Given the description of an element on the screen output the (x, y) to click on. 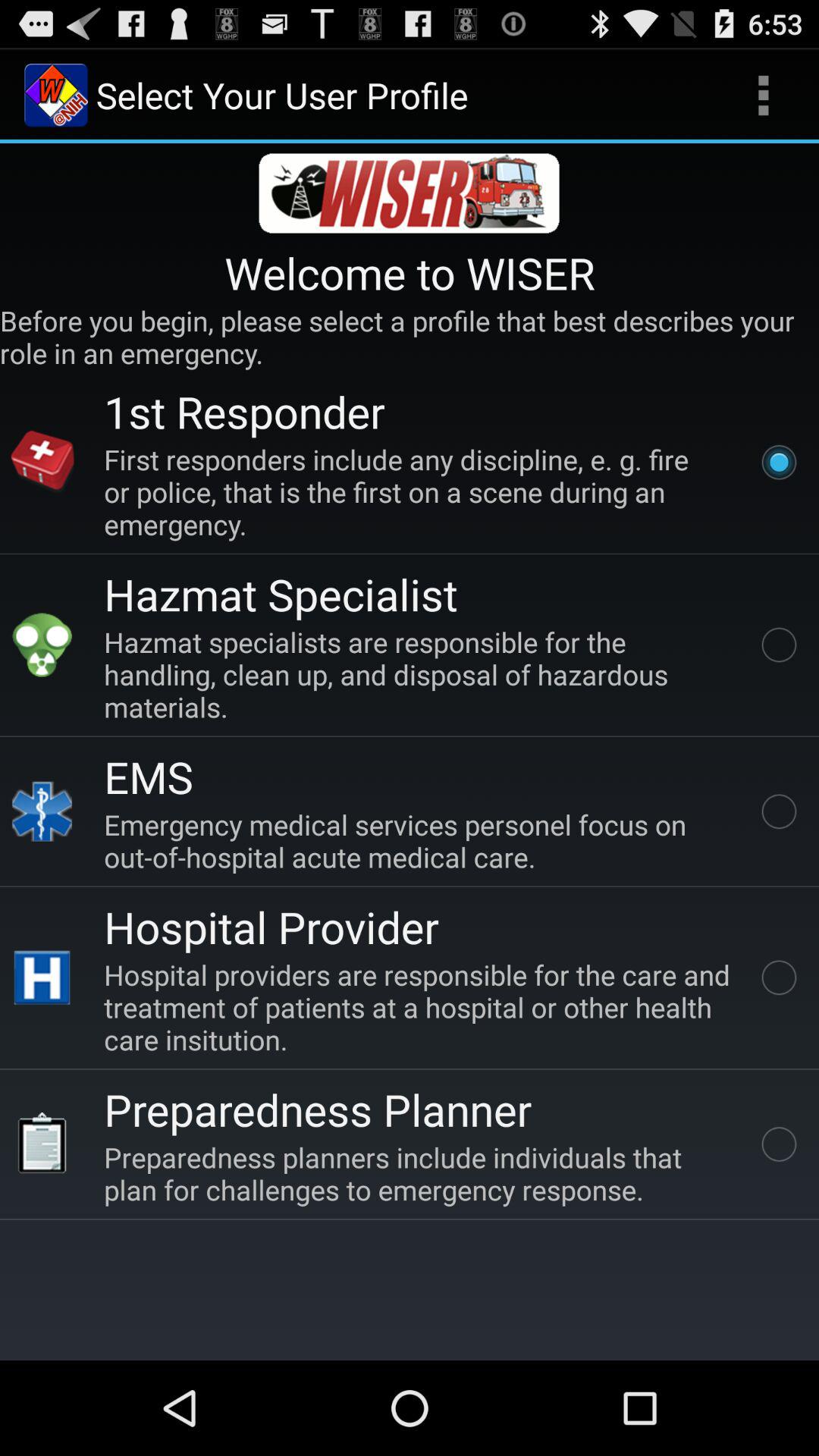
choose the item below ems app (420, 840)
